Given the description of an element on the screen output the (x, y) to click on. 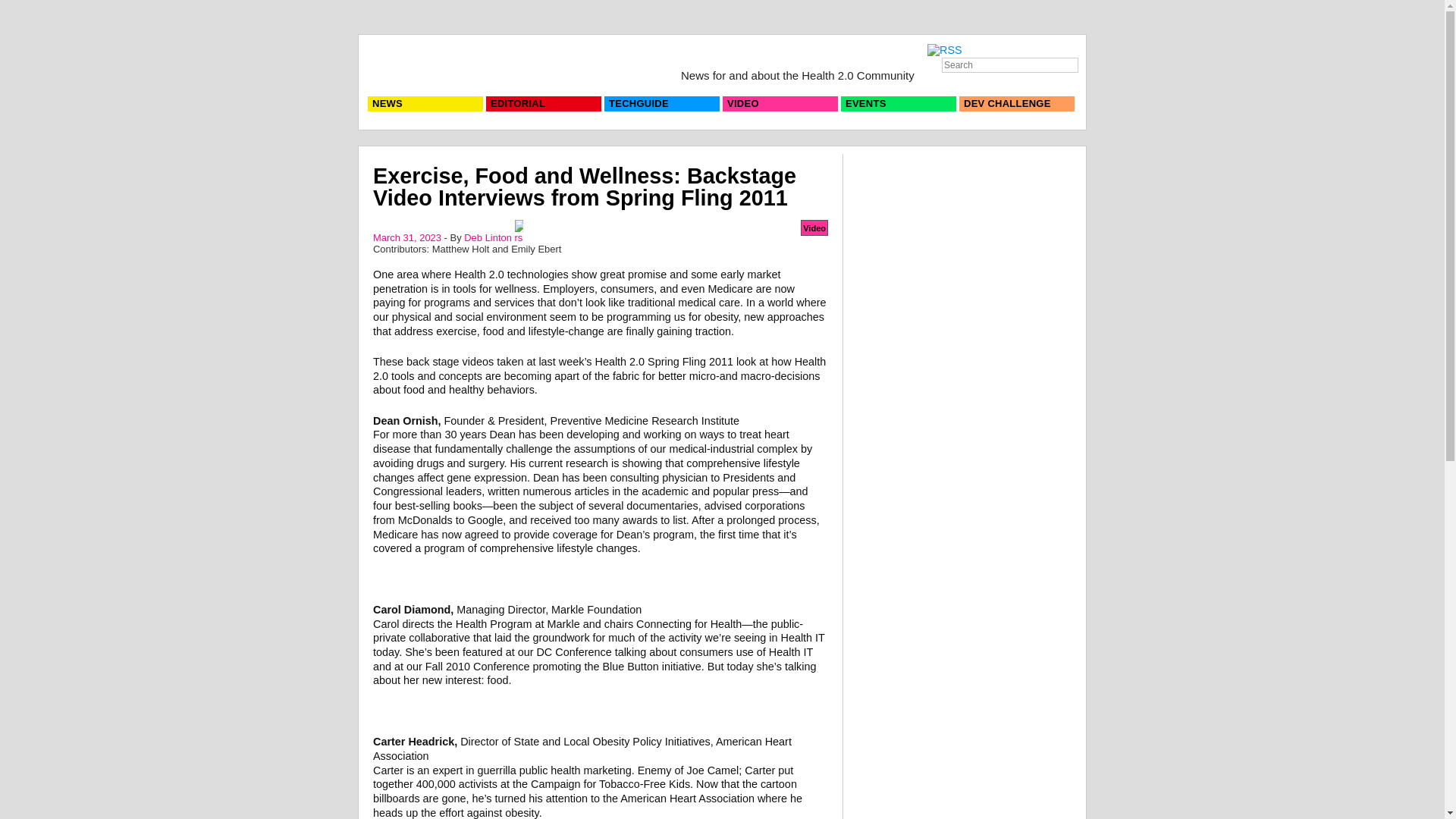
Search (1010, 64)
Deb Linton (488, 237)
VIDEO (780, 103)
DEV CHALLENGE (1016, 103)
TECHGUIDE (661, 103)
View all posts by Deb Linton (488, 237)
EDITORIAL (543, 103)
March 31, 2023 (406, 237)
EVENTS (898, 103)
Search (24, 6)
